Given the description of an element on the screen output the (x, y) to click on. 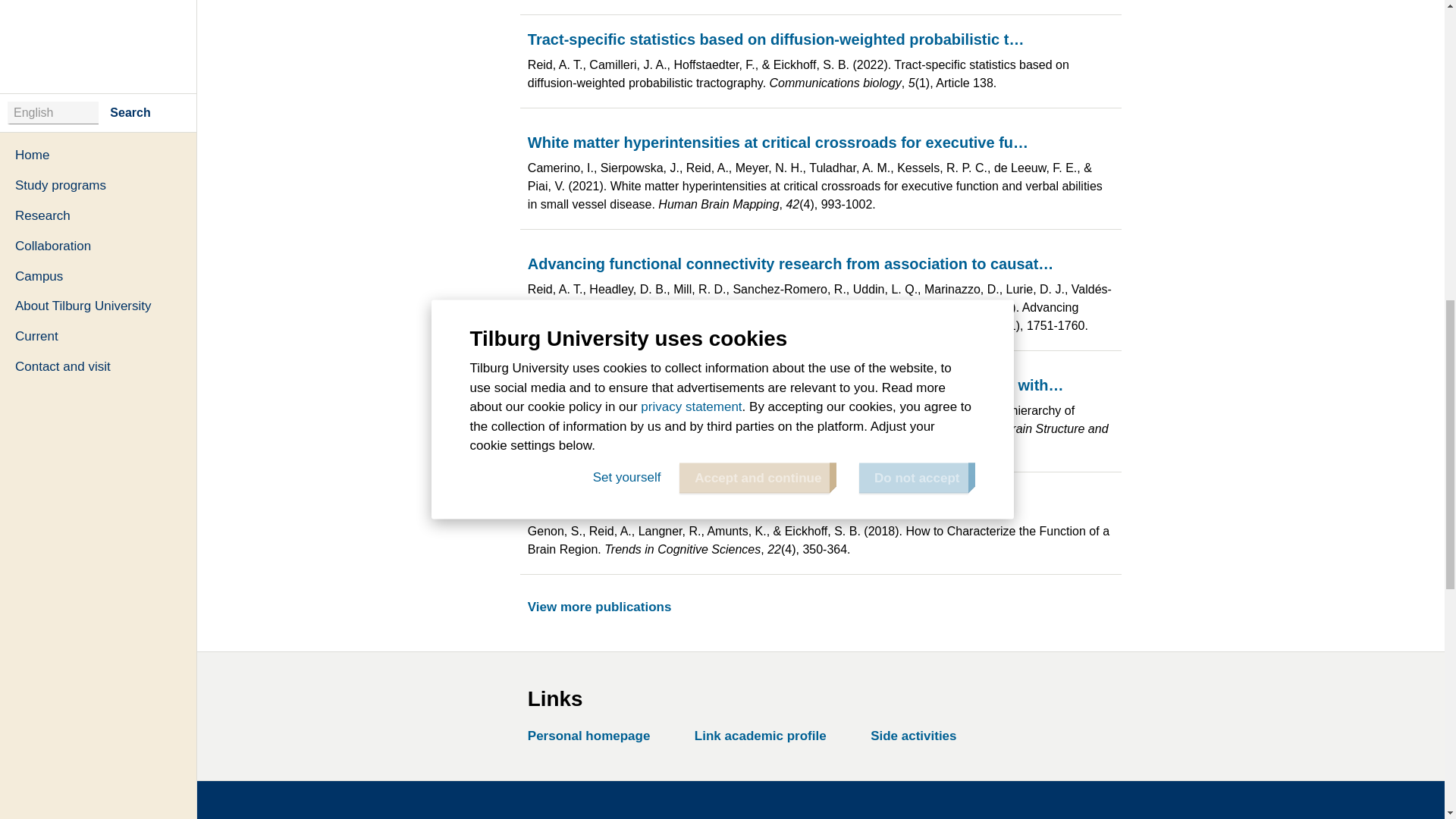
Side activities (918, 736)
Personal homepage (594, 736)
View more publications (604, 607)
Link academic profile (765, 736)
